Given the description of an element on the screen output the (x, y) to click on. 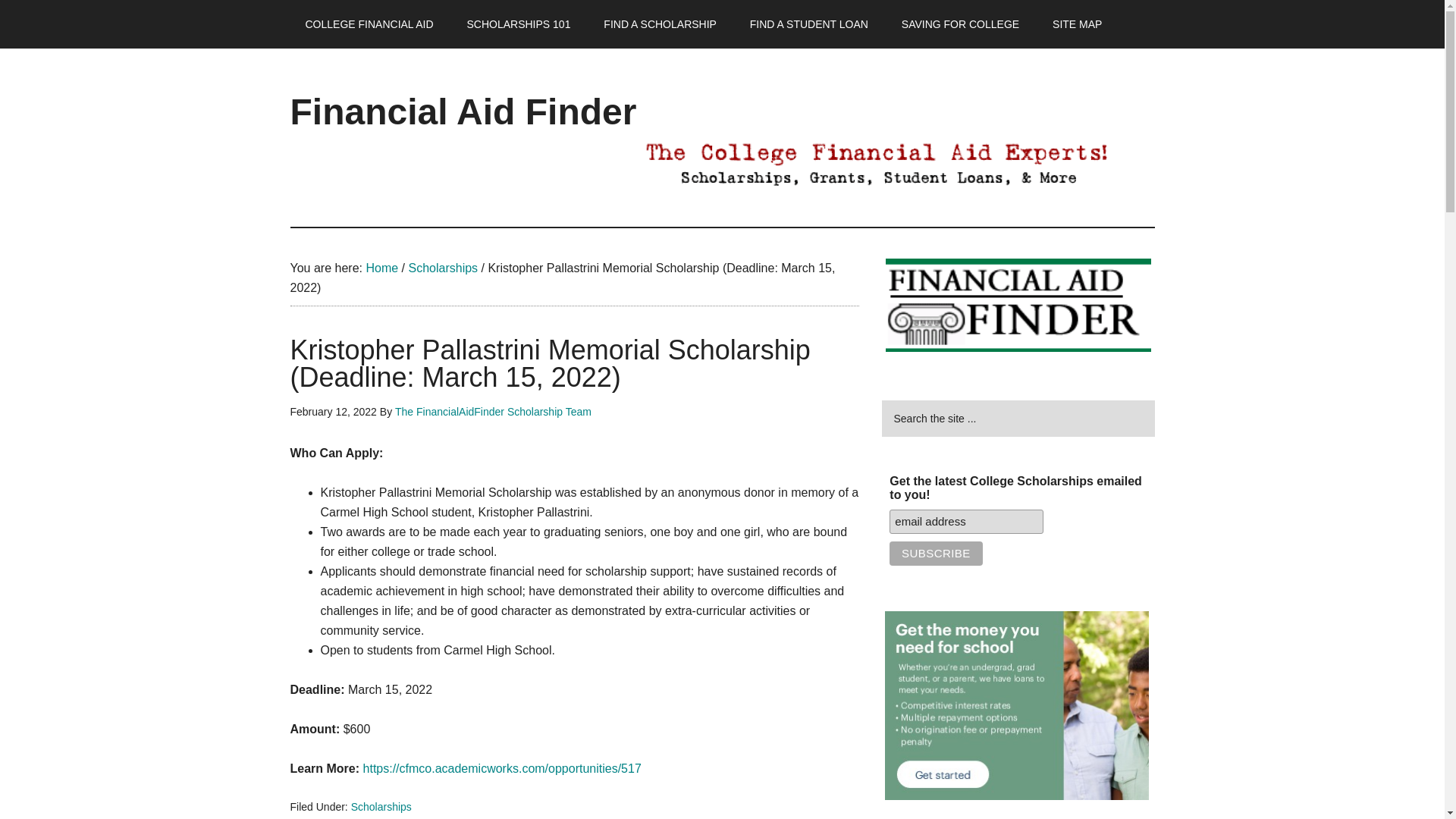
COLLEGE FINANCIAL AID (368, 24)
Subscribe (935, 553)
SCHOLARSHIPS 101 (518, 24)
FIND A SCHOLARSHIP (660, 24)
FIND A STUDENT LOAN (809, 24)
